Given the description of an element on the screen output the (x, y) to click on. 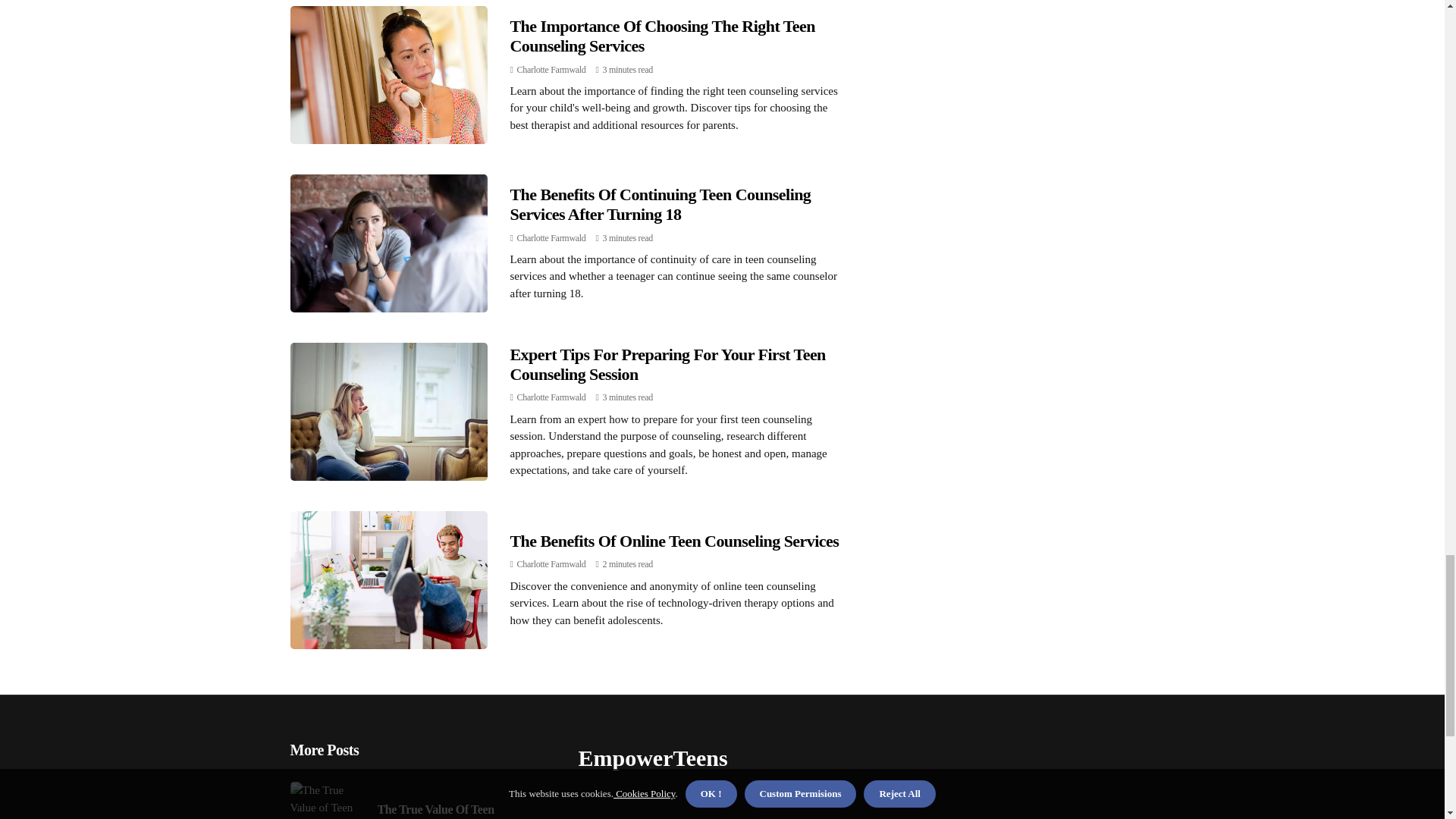
Charlotte Farmwald (551, 69)
Posts by Charlotte Farmwald (551, 563)
Charlotte Farmwald (551, 563)
Posts by Charlotte Farmwald (551, 397)
Posts by Charlotte Farmwald (551, 237)
The Benefits Of Online Teen Counseling Services (673, 540)
Charlotte Farmwald (551, 237)
Posts by Charlotte Farmwald (551, 69)
Charlotte Farmwald (551, 397)
